Given the description of an element on the screen output the (x, y) to click on. 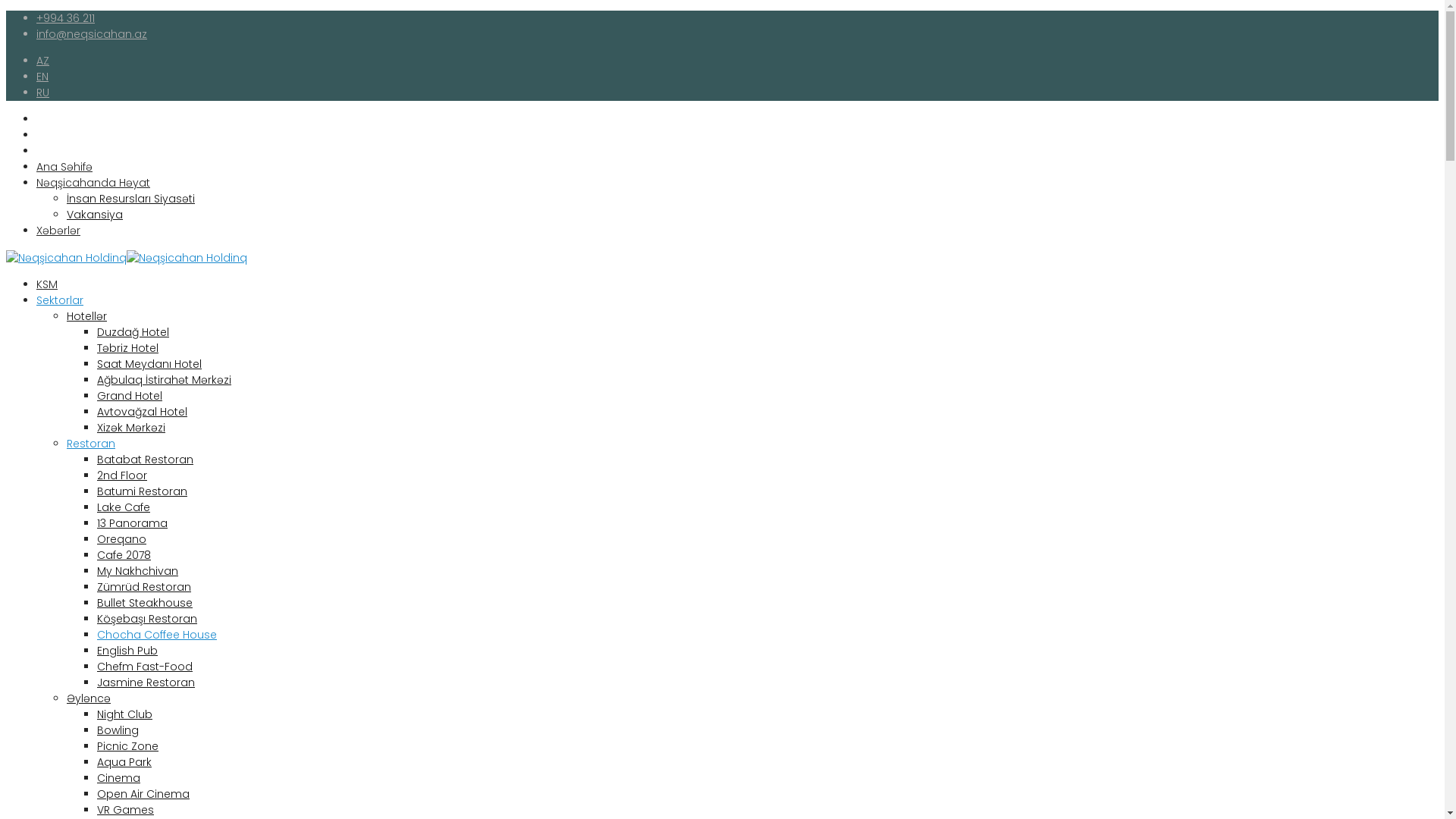
English Pub Element type: text (127, 650)
Cafe 2078 Element type: text (123, 554)
AZ Element type: text (42, 60)
Batabat Restoran Element type: text (145, 459)
VR Games Element type: text (125, 809)
My Nakhchivan Element type: text (137, 570)
Night Club Element type: text (124, 713)
Cinema Element type: text (118, 777)
Chocha Coffee House Element type: text (156, 634)
2nd Floor Element type: text (122, 475)
Vakansiya Element type: text (94, 214)
Jasmine Restoran Element type: text (145, 682)
13 Panorama Element type: text (132, 522)
info@neqsicahan.az Element type: text (91, 33)
Bowling Element type: text (117, 729)
+994 36 211 Element type: text (65, 17)
Batumi Restoran Element type: text (142, 490)
Restoran Element type: text (90, 443)
Grand Hotel Element type: text (129, 395)
EN Element type: text (42, 76)
Oreqano Element type: text (121, 538)
Sektorlar Element type: text (59, 299)
Chefm Fast-Food Element type: text (144, 666)
Open Air Cinema Element type: text (143, 793)
RU Element type: text (42, 92)
Aqua Park Element type: text (124, 761)
KSM Element type: text (46, 283)
Lake Cafe Element type: text (123, 506)
Picnic Zone Element type: text (127, 745)
Bullet Steakhouse Element type: text (144, 602)
